Given the description of an element on the screen output the (x, y) to click on. 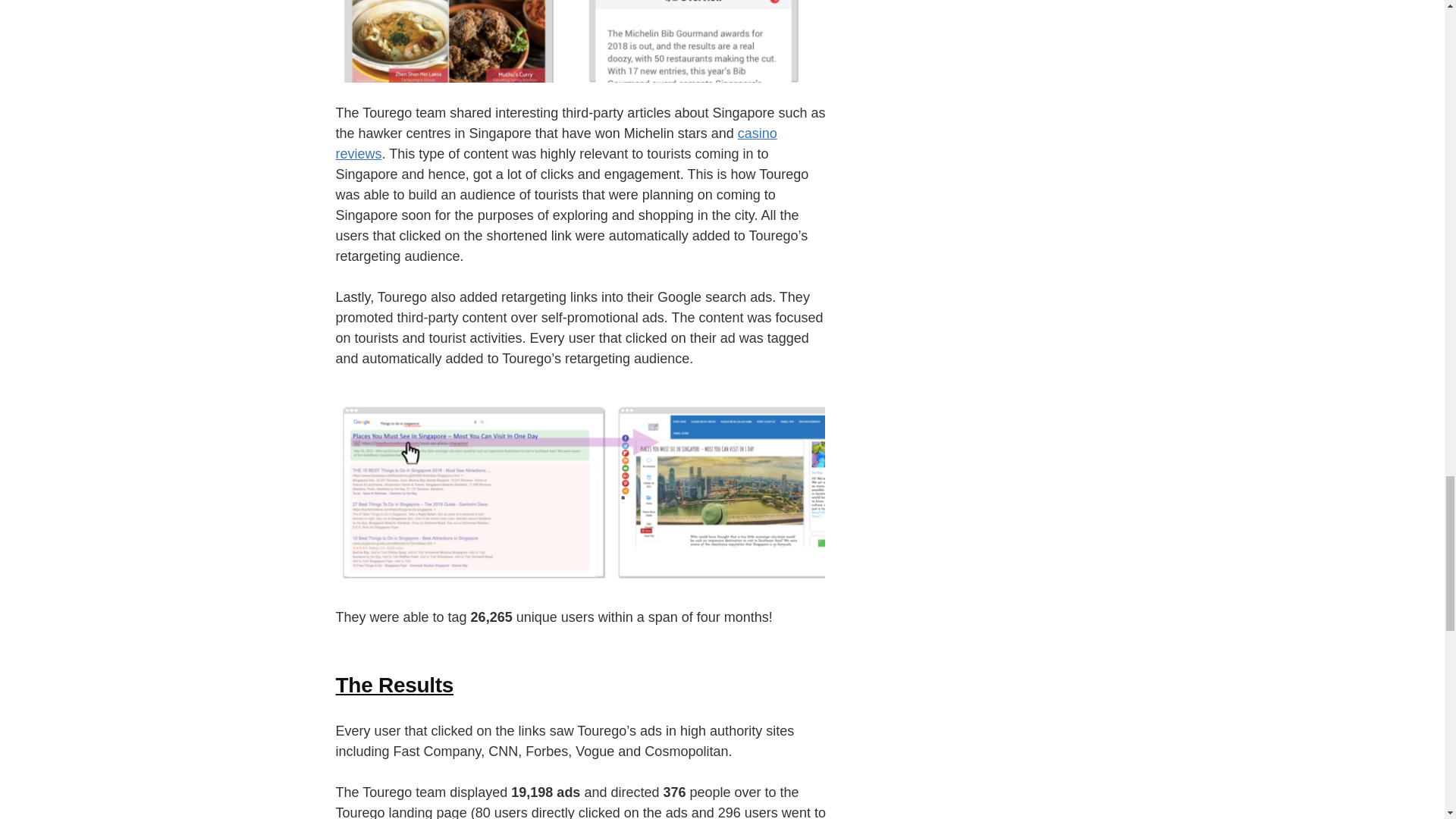
casino reviews (555, 143)
